Given the description of an element on the screen output the (x, y) to click on. 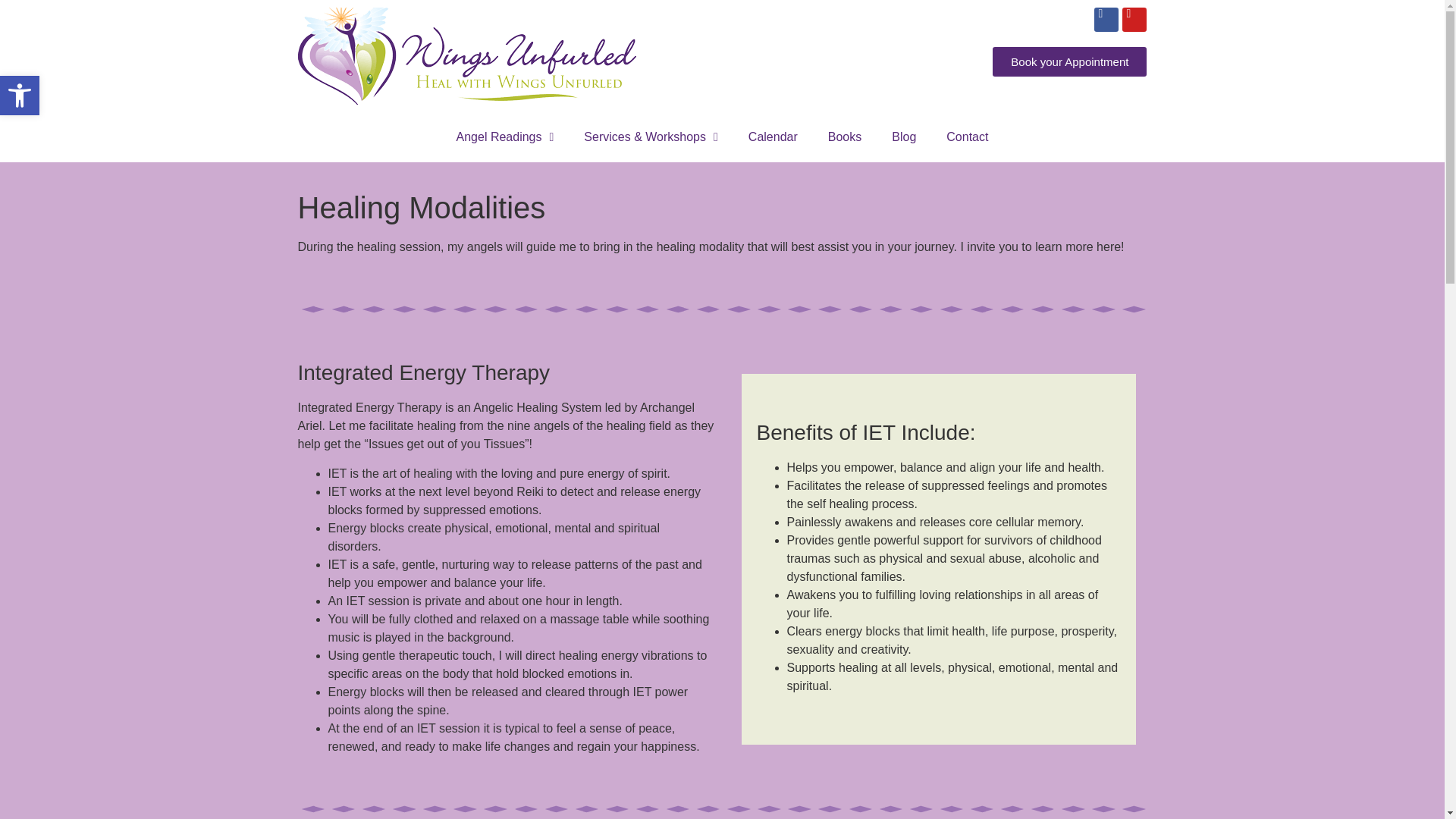
Accessibility Tools (19, 95)
Book your Appointment (19, 95)
Accessibility Tools (1069, 61)
Contact (19, 95)
Calendar (967, 136)
Blog (772, 136)
Books (903, 136)
Angel Readings (844, 136)
